Given the description of an element on the screen output the (x, y) to click on. 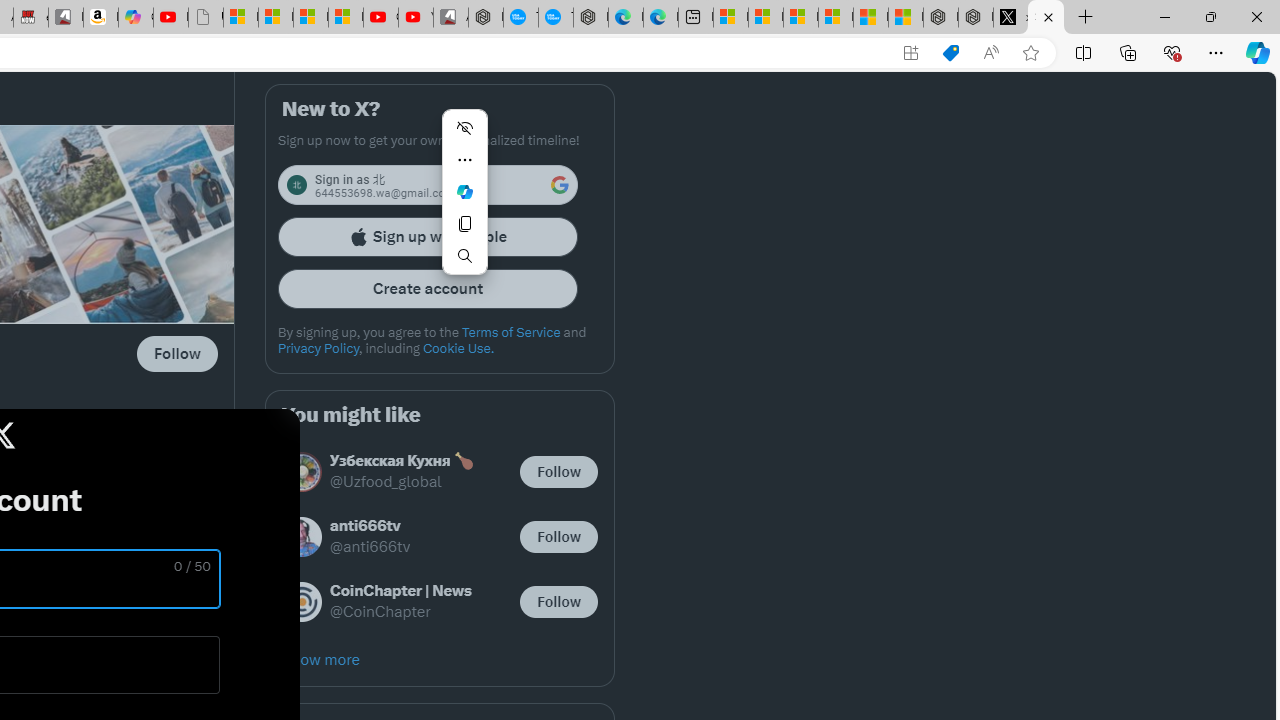
Ask Copilot (464, 191)
More actions (464, 159)
App available. Install X (910, 53)
Copilot (136, 17)
